Given the description of an element on the screen output the (x, y) to click on. 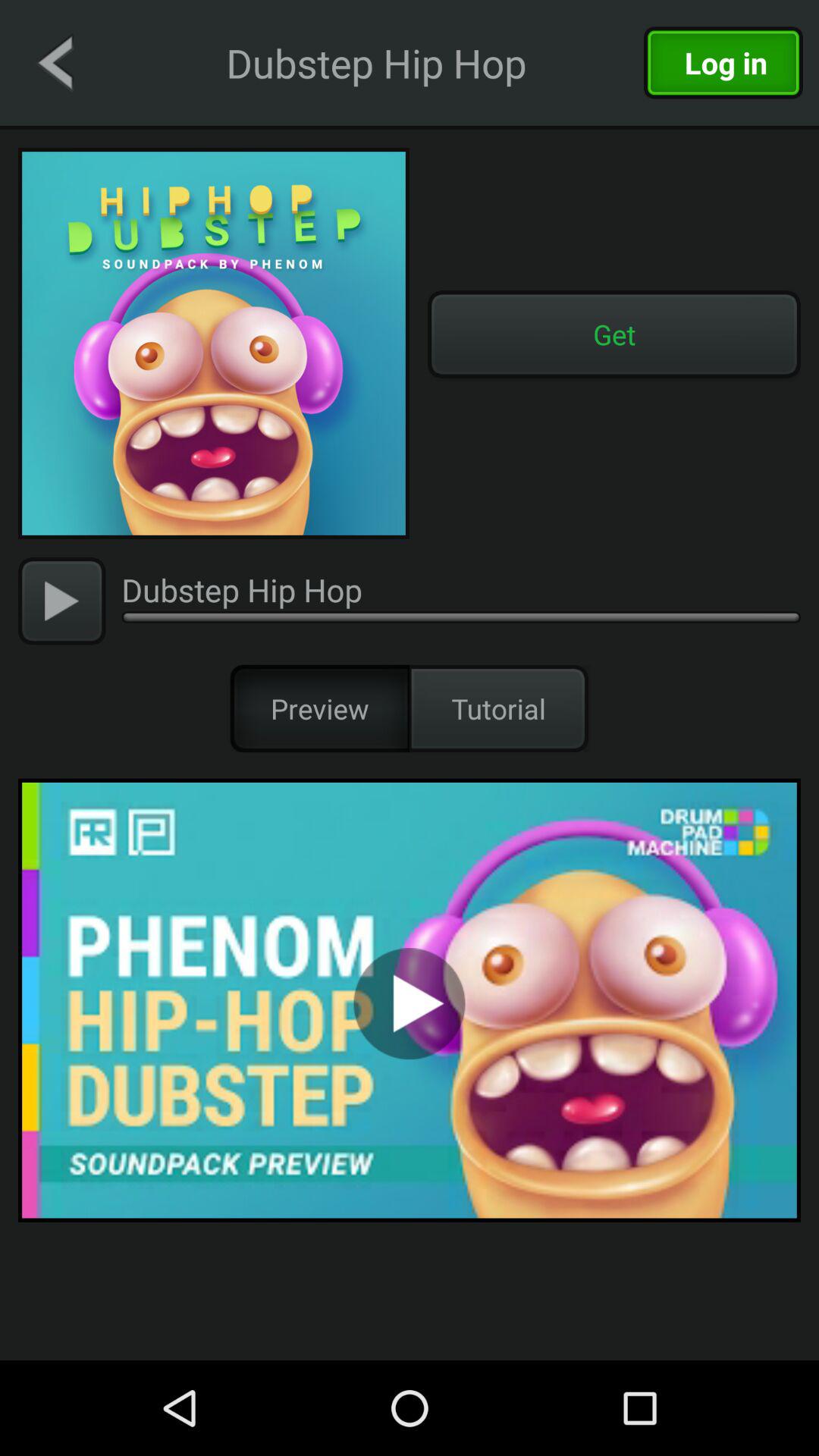
image of soundtrack (213, 343)
